Given the description of an element on the screen output the (x, y) to click on. 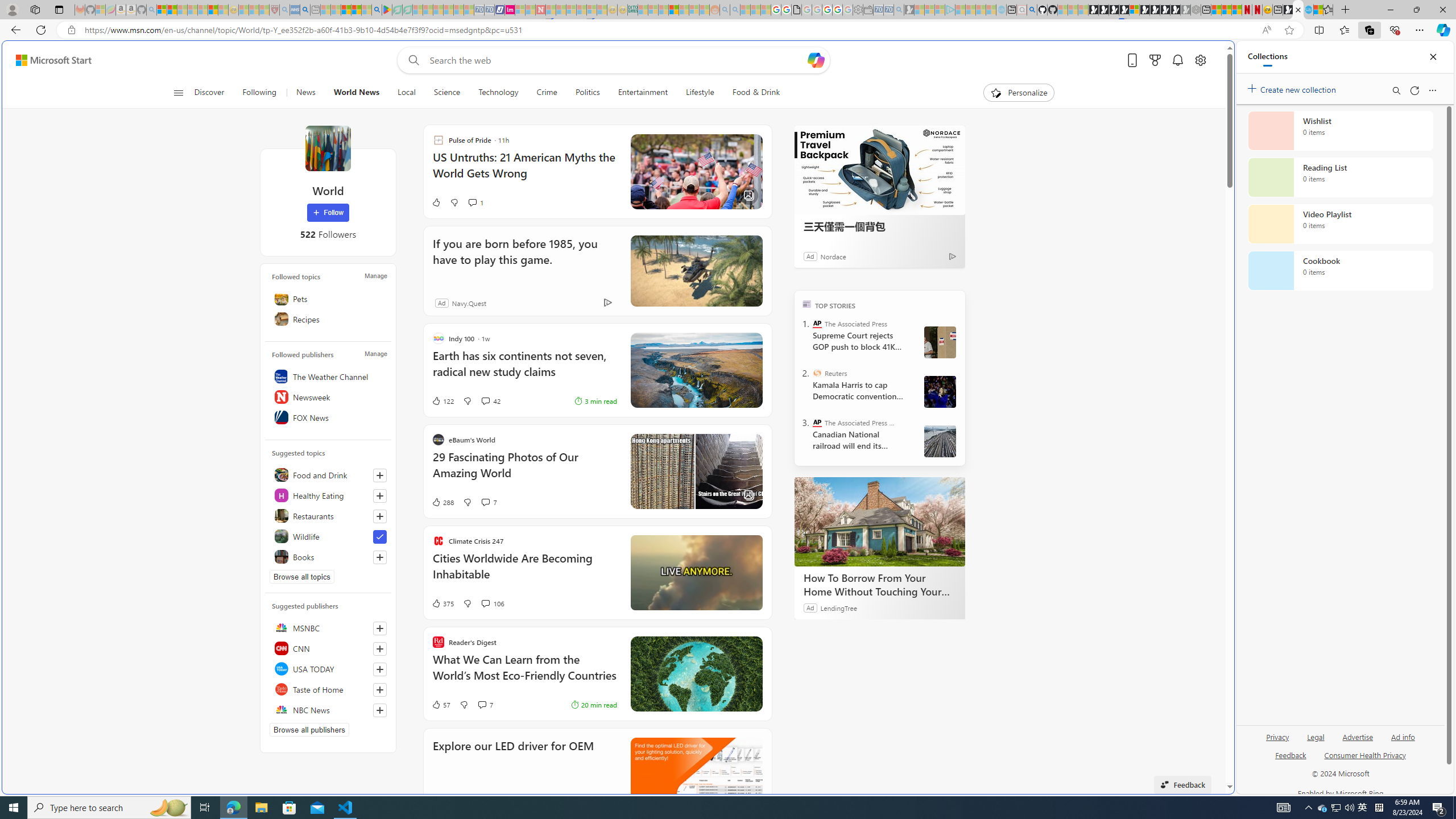
View comments 7 Comment (485, 704)
Video Playlist collection, 0 items (1339, 223)
